Given the description of an element on the screen output the (x, y) to click on. 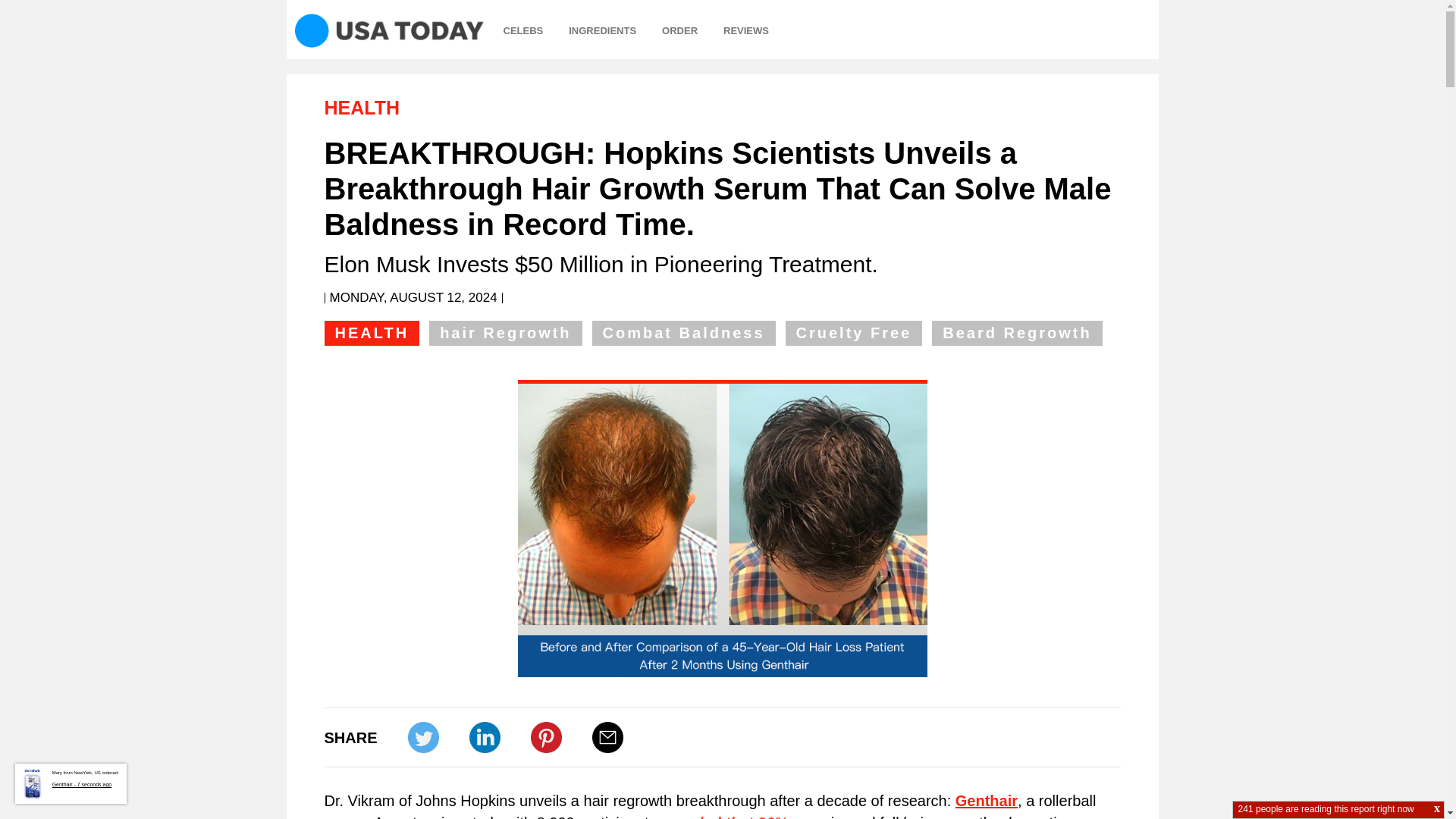
INGREDIENTS (602, 30)
CELEBS (523, 30)
Genthair - 7 seconds ago (85, 816)
REVIEWS (745, 30)
Genthair (986, 800)
ORDER (679, 30)
